Given the description of an element on the screen output the (x, y) to click on. 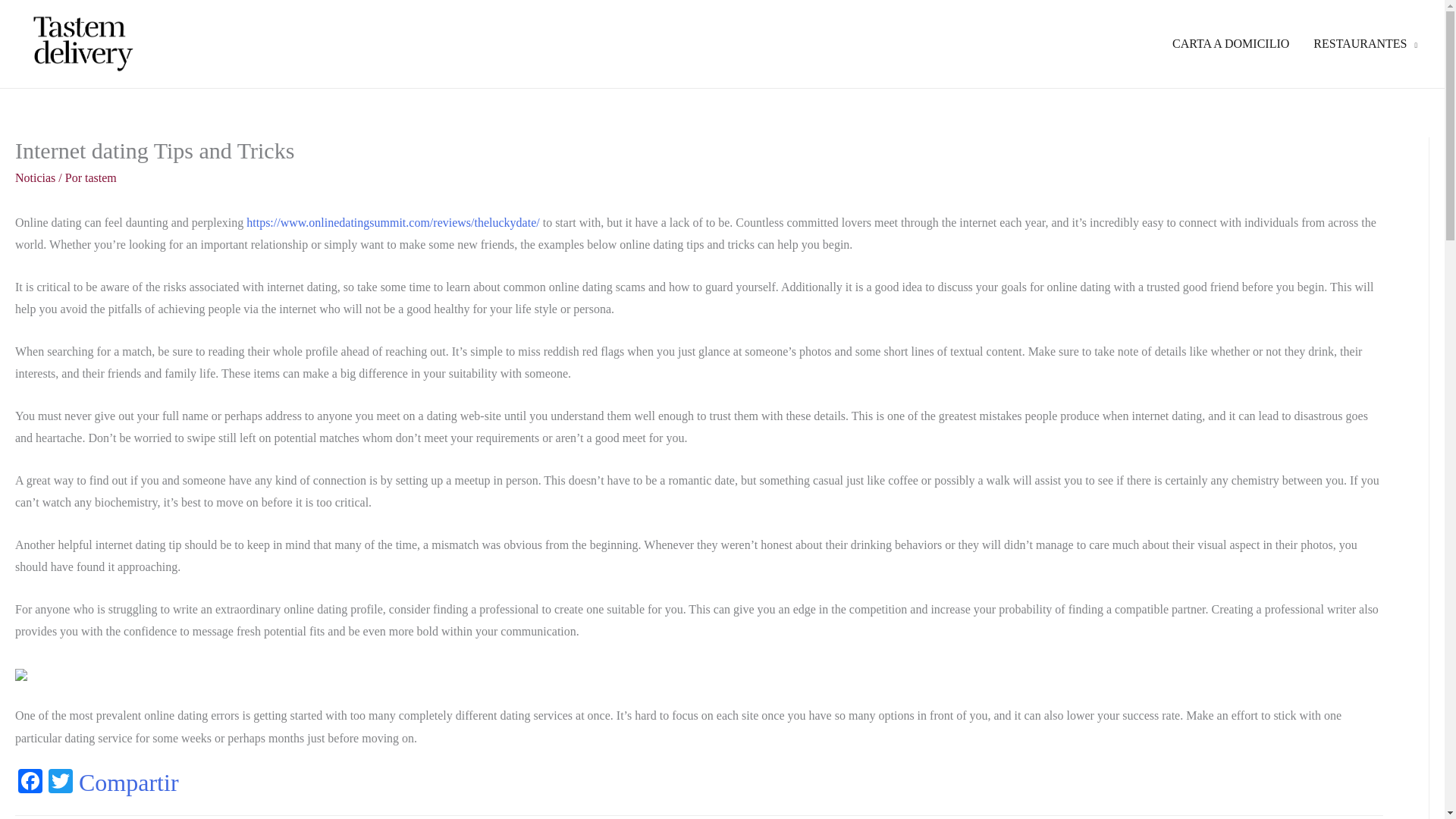
Twitter (60, 782)
RESTAURANTES (1365, 43)
Facebook (29, 782)
Twitter (60, 782)
Compartir (128, 782)
Noticias (34, 177)
tastem (100, 177)
CARTA A DOMICILIO (1230, 43)
Facebook (29, 782)
Ver todas las entradas de tastem (100, 177)
